Given the description of an element on the screen output the (x, y) to click on. 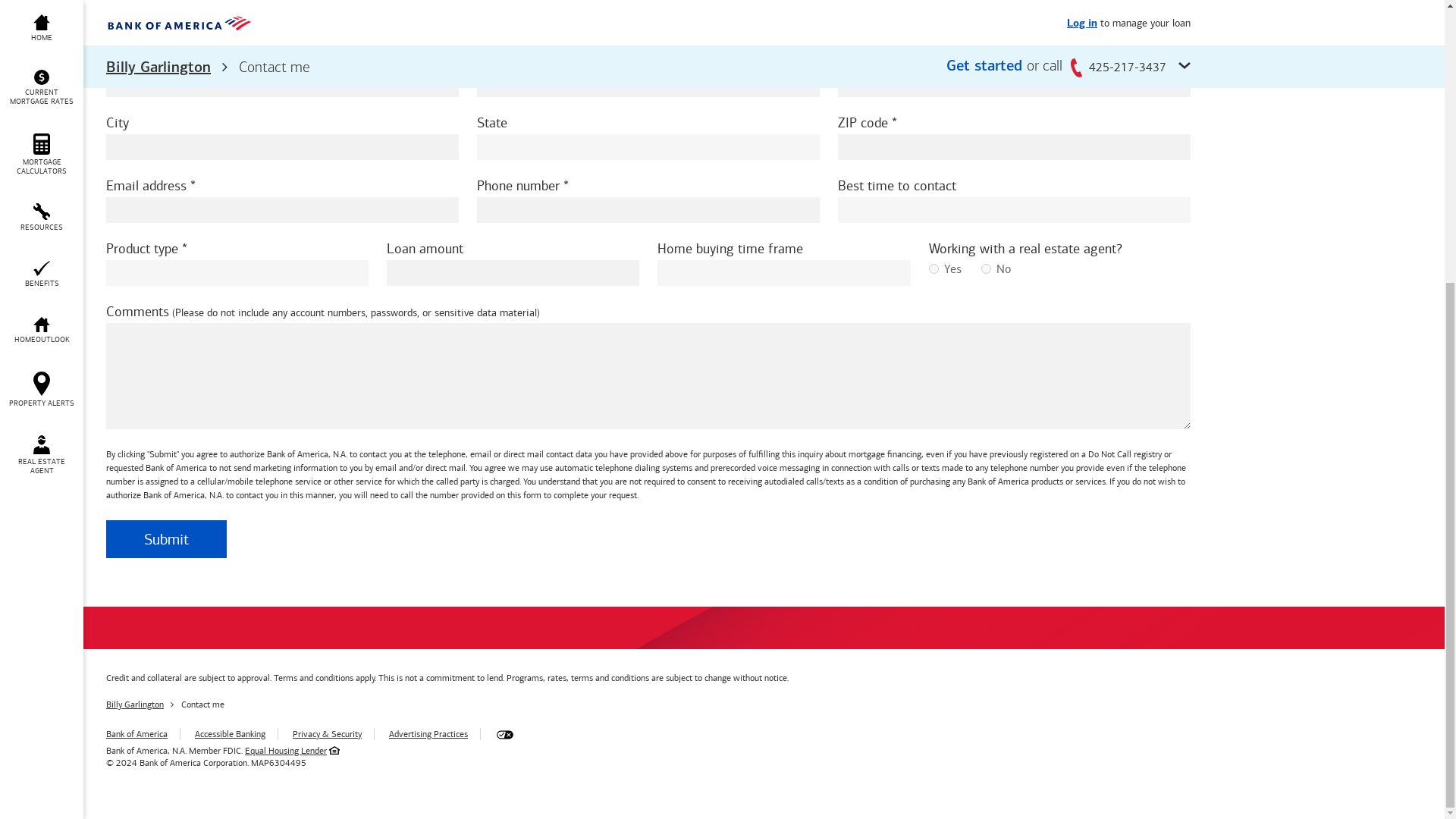
REAL ESTATE AGENT (41, 33)
Billy Garlington (134, 704)
Equal Housing Lender (285, 750)
Contact me (202, 704)
Submit (166, 538)
Accessible Banking (229, 733)
Bank of America (136, 733)
Yes (932, 268)
Advertising Practices (427, 733)
No (986, 268)
